Given the description of an element on the screen output the (x, y) to click on. 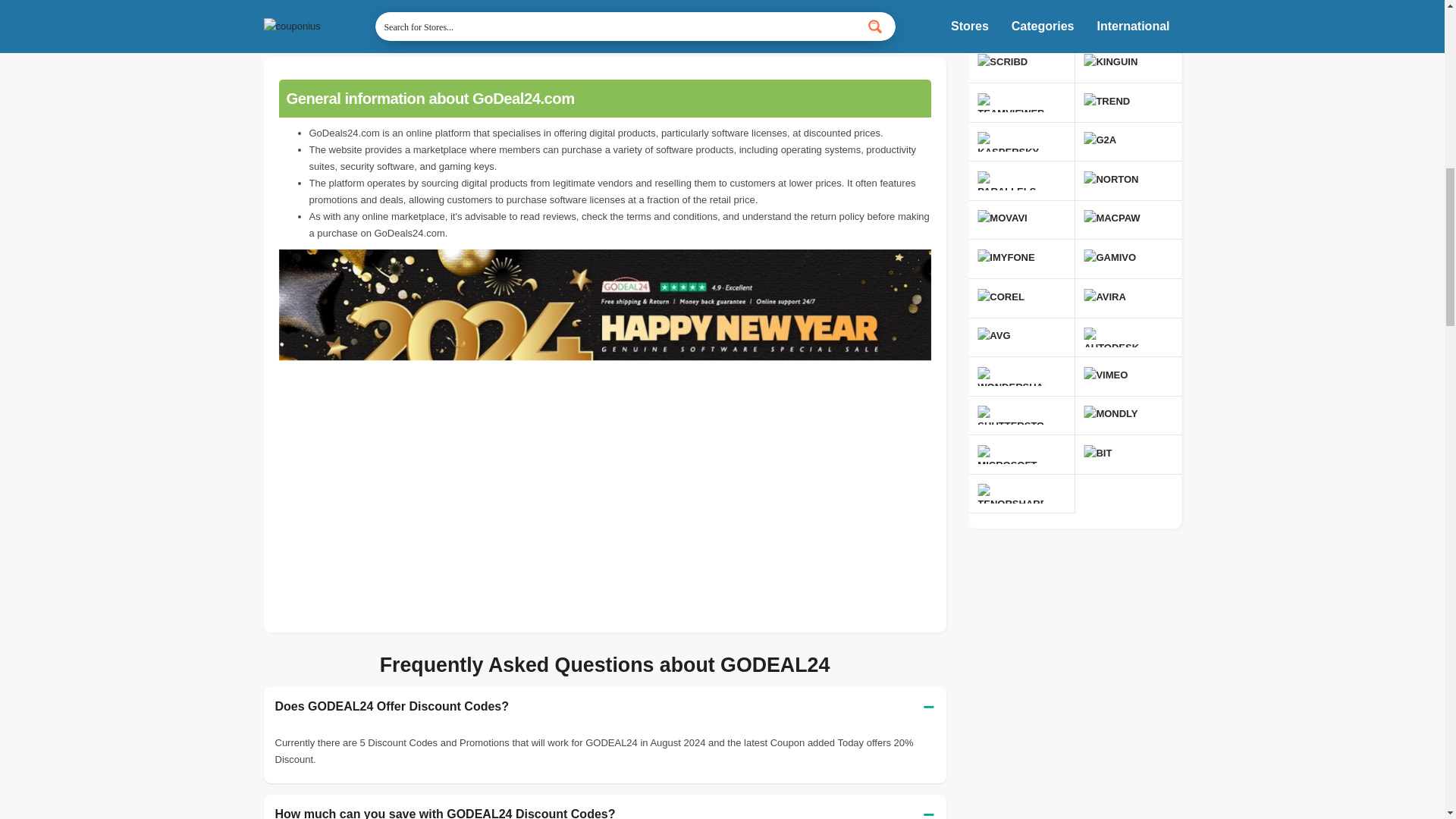
G2A (1116, 141)
SCRIBD (1009, 63)
TEAMVIEWER (1009, 102)
KASPERSKY (1009, 140)
KINGUIN (1116, 63)
PARALLELS (1009, 180)
TREND MICRO (836, 3)
